Given the description of an element on the screen output the (x, y) to click on. 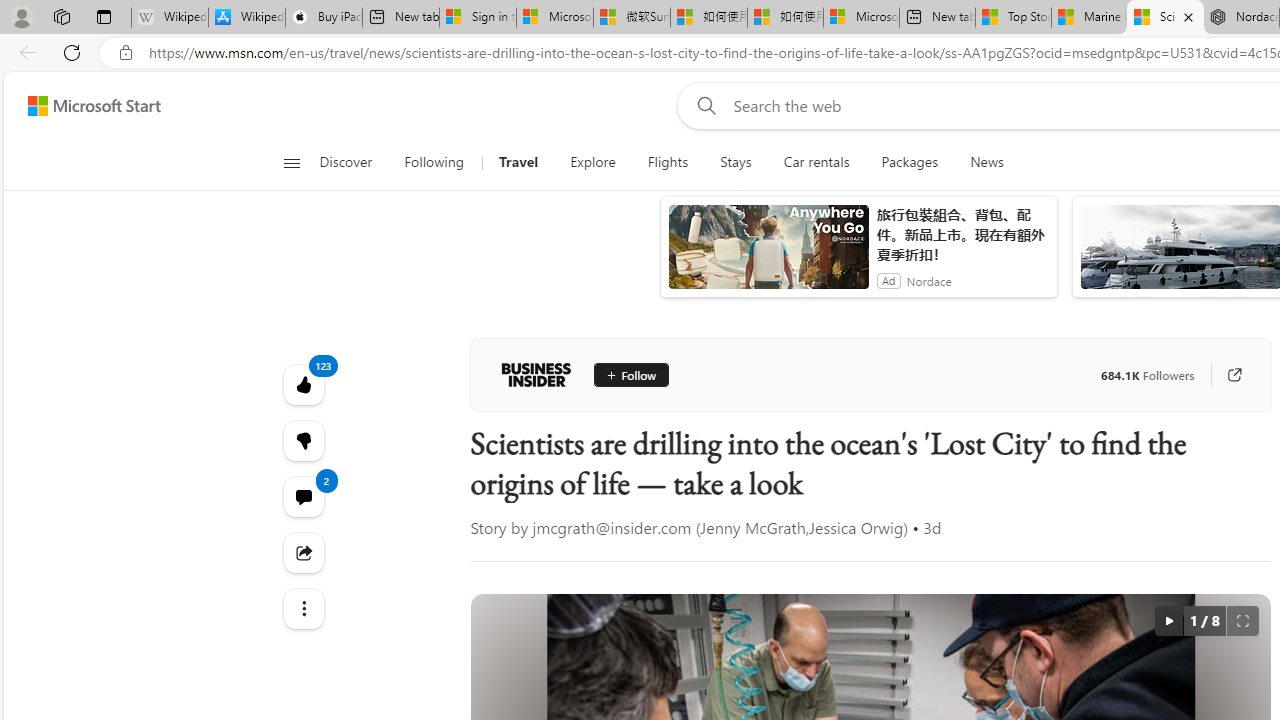
News (986, 162)
Flights (668, 162)
Following (433, 162)
Go to publisher's site (1234, 374)
Class: at-item (302, 609)
Workspaces (61, 16)
Business Insider (536, 374)
Discover (353, 162)
123 Like (302, 384)
Explore (592, 162)
Microsoft account | Account Checkup (861, 17)
Refresh (72, 52)
New tab (937, 17)
